Given the description of an element on the screen output the (x, y) to click on. 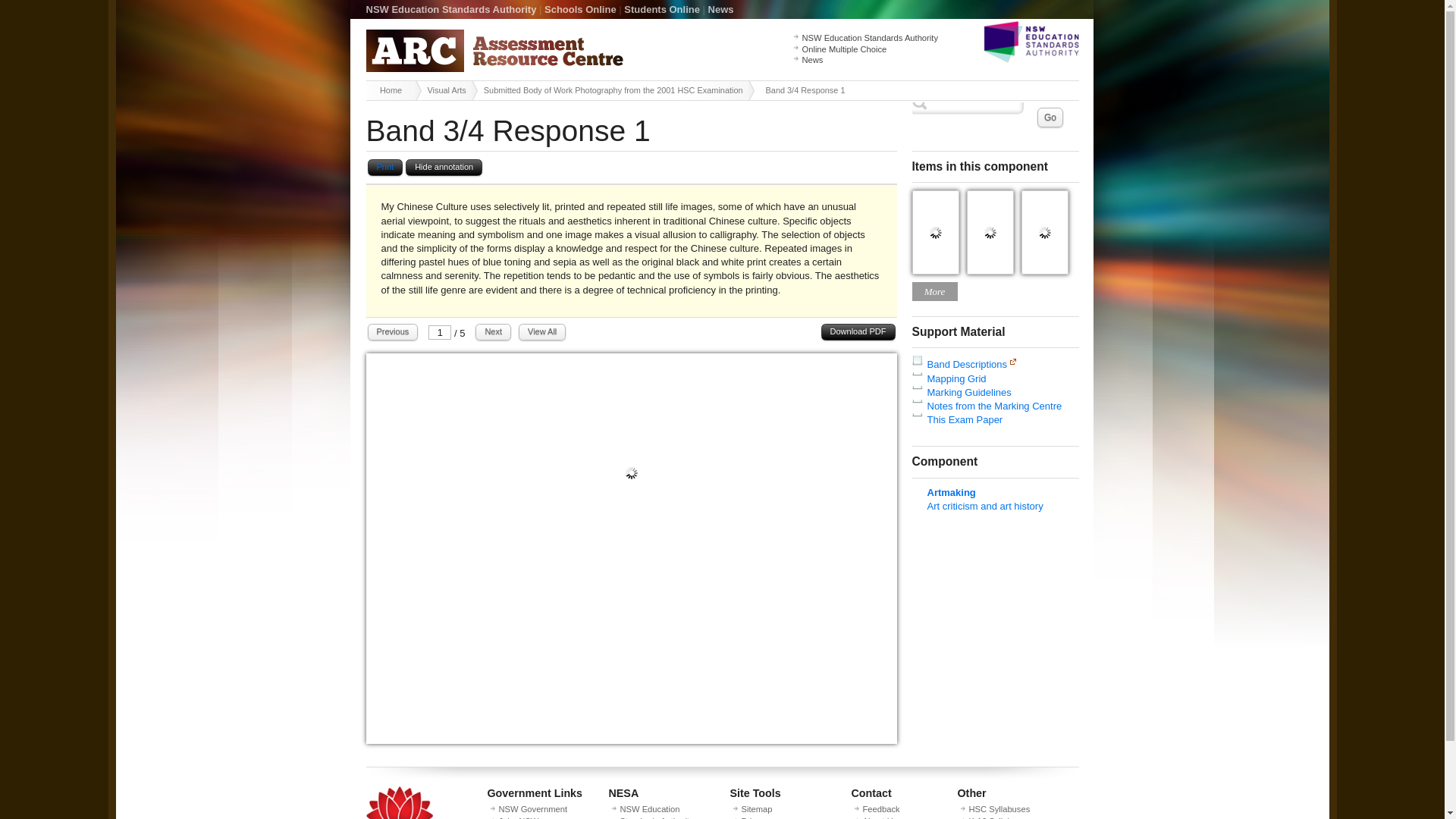
Visual Arts (449, 90)
Print (384, 167)
Online Multiple Choice (844, 49)
Download PDF (858, 332)
View All (542, 332)
Download PDF (858, 332)
NSW Education Standards Authority (450, 9)
News (720, 9)
Go (1050, 117)
Students Online (662, 9)
NSW Education Standards Authority (869, 37)
Home (392, 90)
Schools Online (579, 9)
Page 1 (630, 740)
Hide annotation (443, 167)
